Given the description of an element on the screen output the (x, y) to click on. 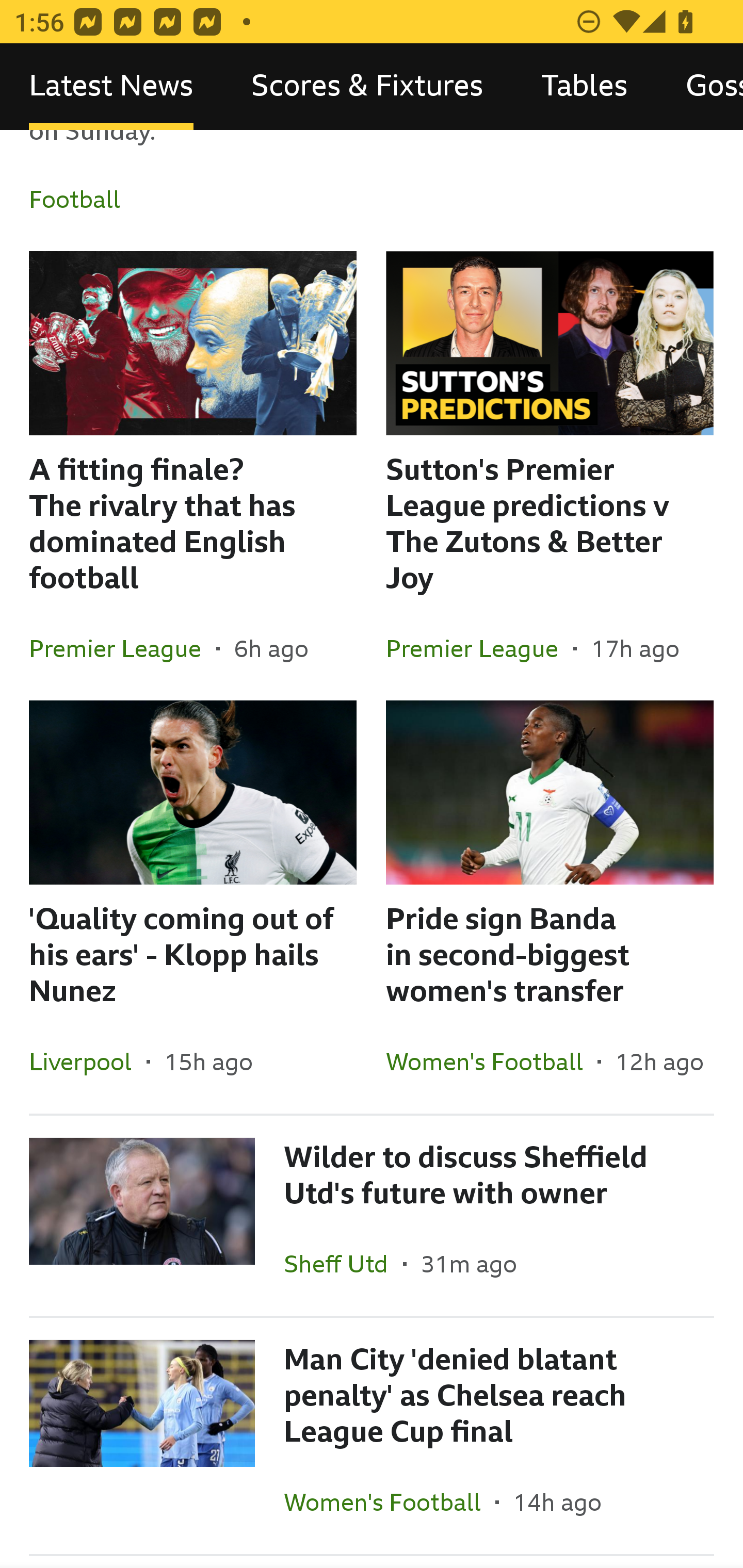
Latest News, selected Latest News (111, 86)
Scores & Fixtures (367, 86)
Tables (584, 86)
Premier League In the section Premier League (122, 647)
Premier League In the section Premier League (479, 647)
Liverpool In the section Liverpool (87, 1061)
Women's Football In the section Women's Football (491, 1061)
Sheff Utd In the section Sheff Utd (342, 1263)
Women's Football In the section Women's Football (389, 1501)
